Given the description of an element on the screen output the (x, y) to click on. 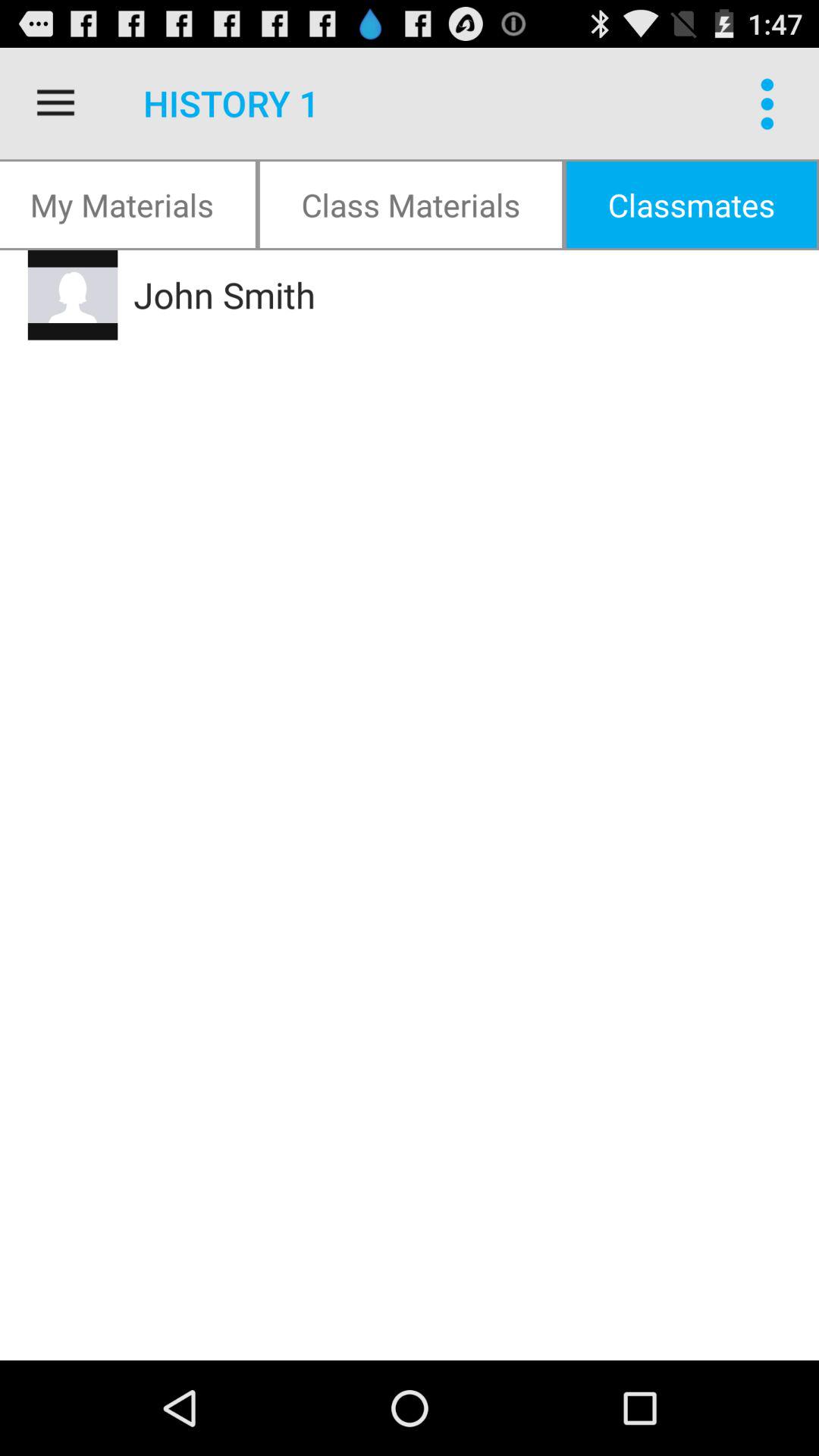
choose icon next to the class materials icon (128, 204)
